Given the description of an element on the screen output the (x, y) to click on. 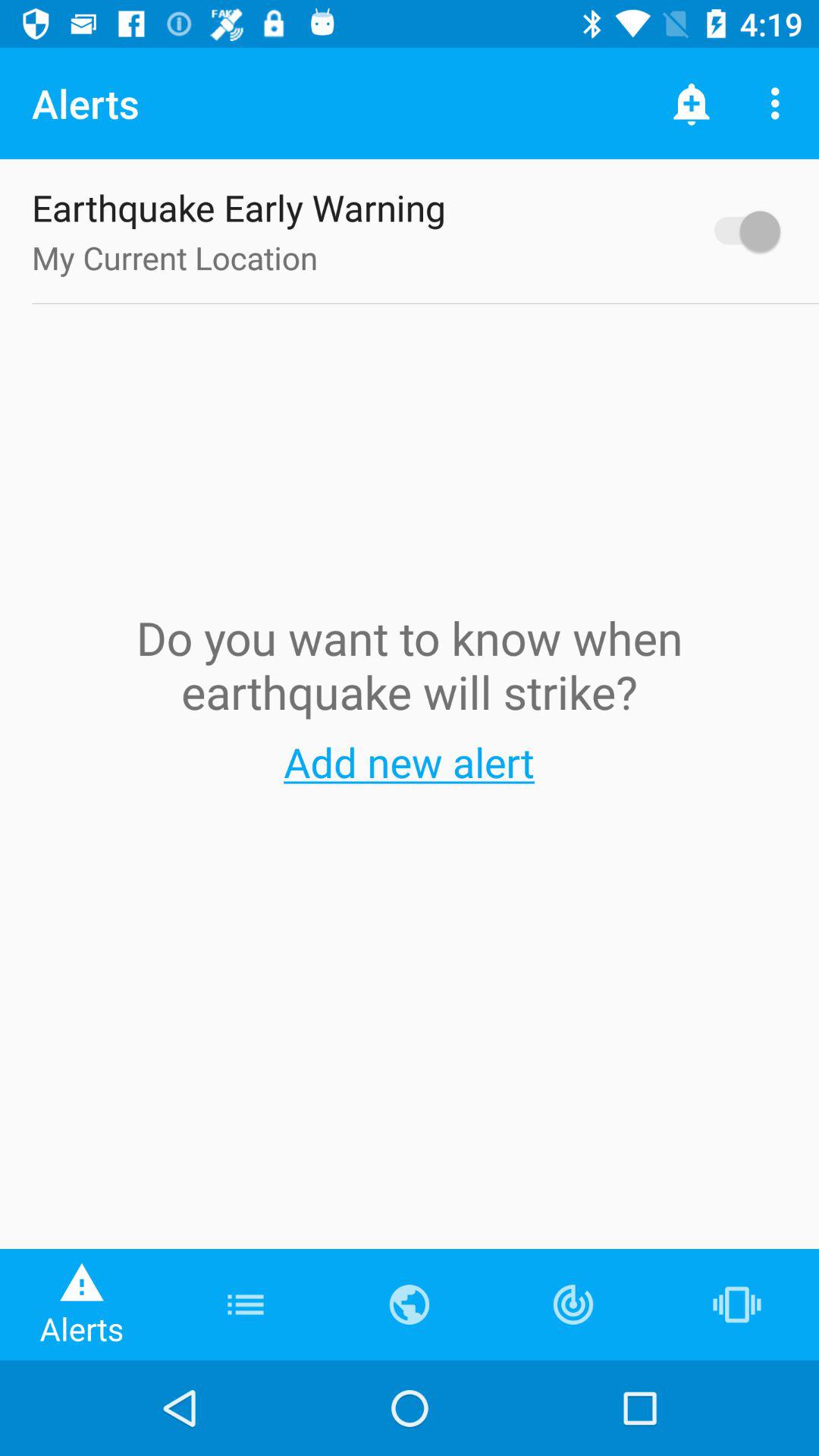
select the icon next to the earthquake early warning (739, 231)
